Given the description of an element on the screen output the (x, y) to click on. 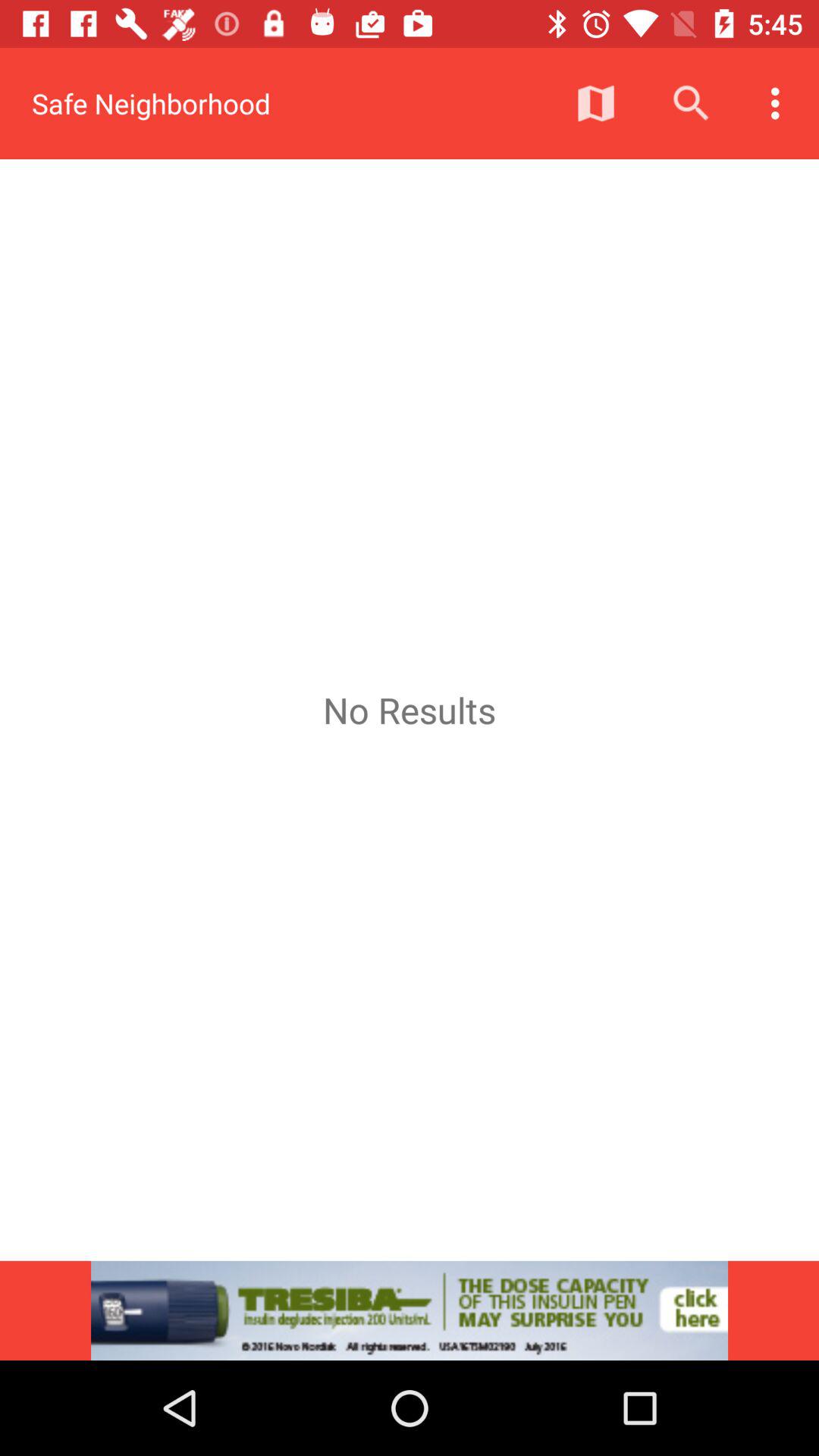
open the icon above no results item (595, 103)
